Given the description of an element on the screen output the (x, y) to click on. 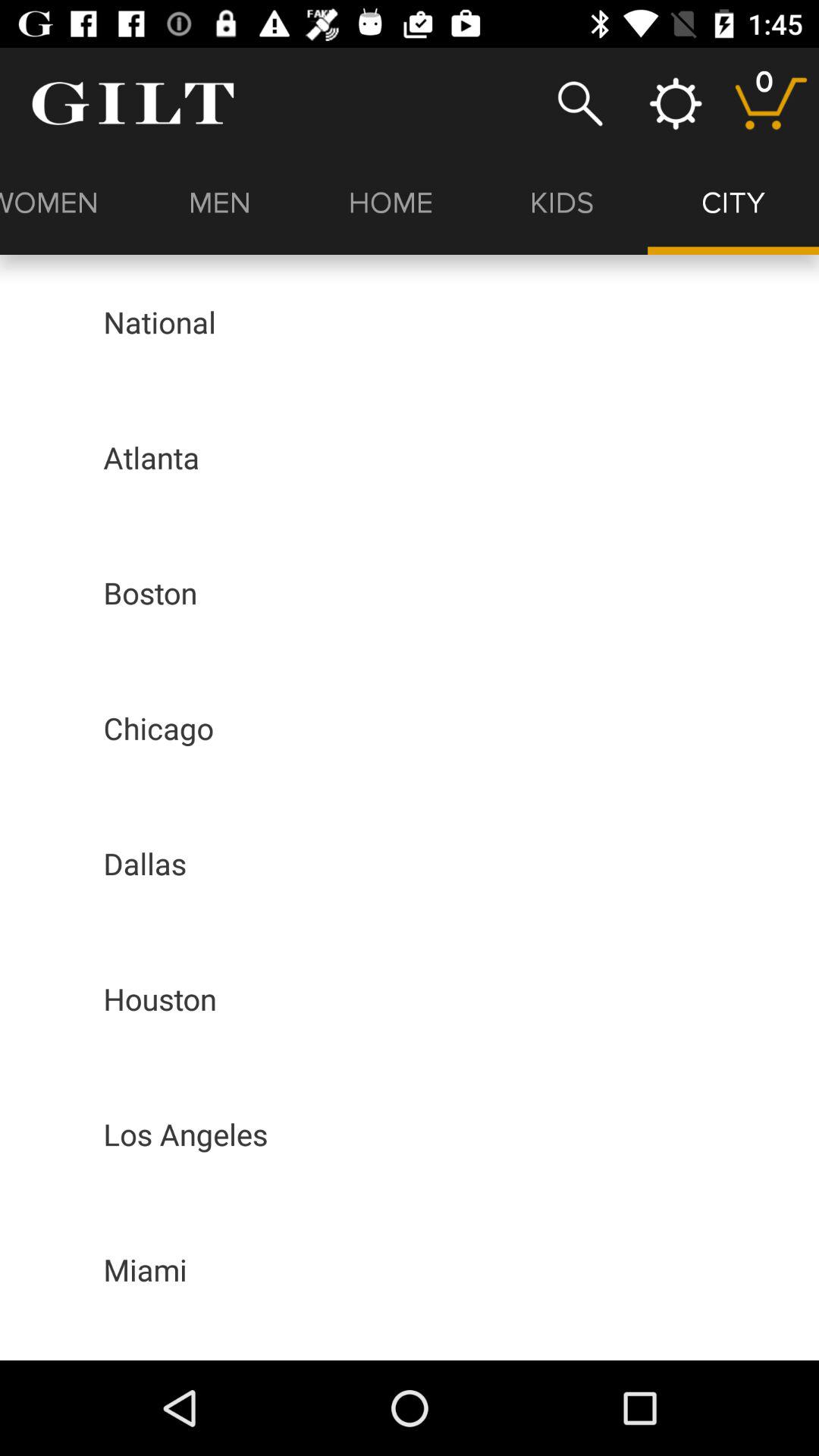
swipe until the atlanta app (151, 457)
